Given the description of an element on the screen output the (x, y) to click on. 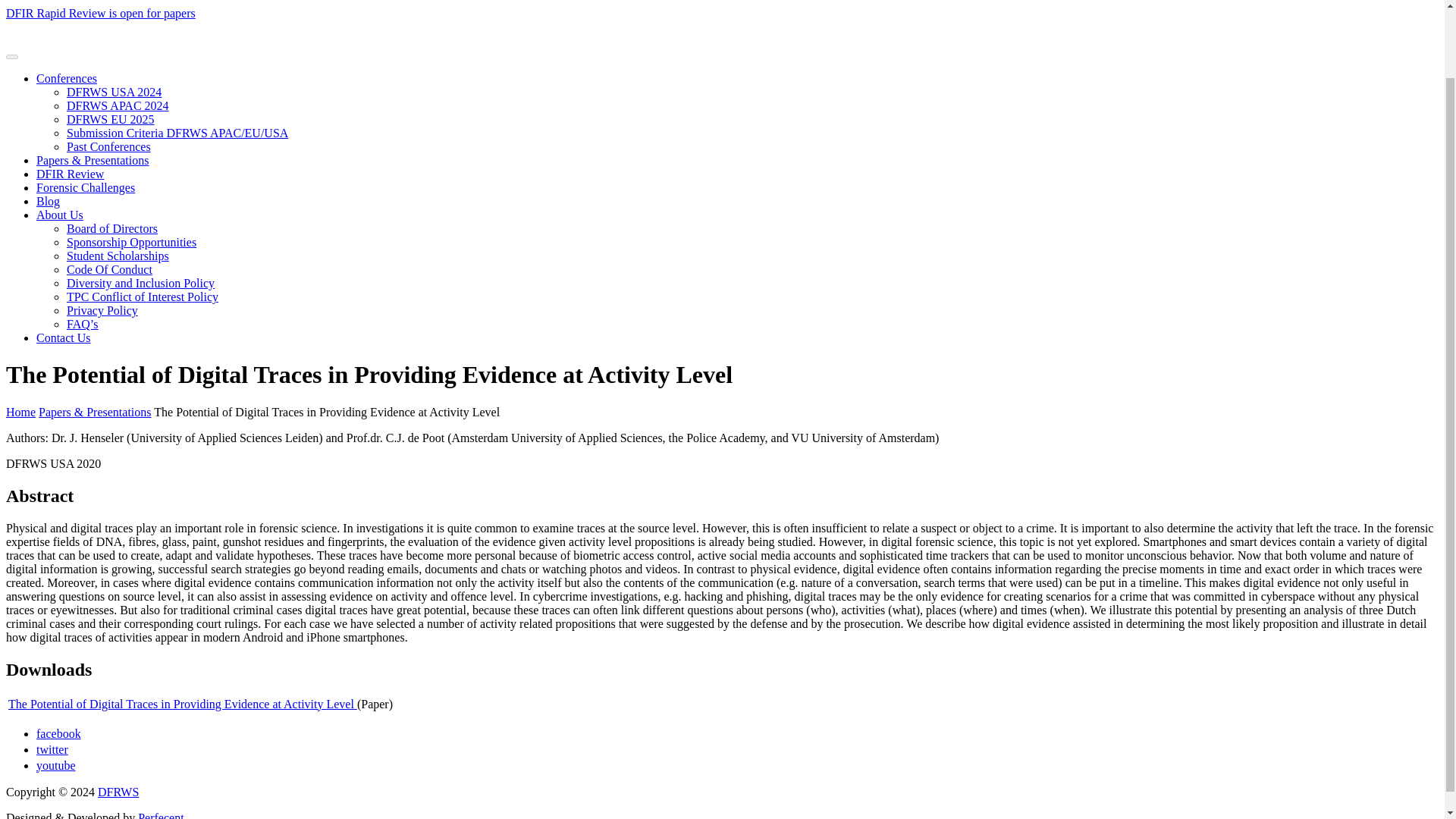
DFRWS USA 2024 (113, 91)
Past Conferences (108, 146)
Forensic Challenges (85, 187)
About Us (59, 214)
Conferences (66, 78)
Past Conferences (108, 146)
Privacy Policy (102, 309)
Home (19, 411)
Code Of Conduct (109, 269)
Contact Us (63, 337)
